Given the description of an element on the screen output the (x, y) to click on. 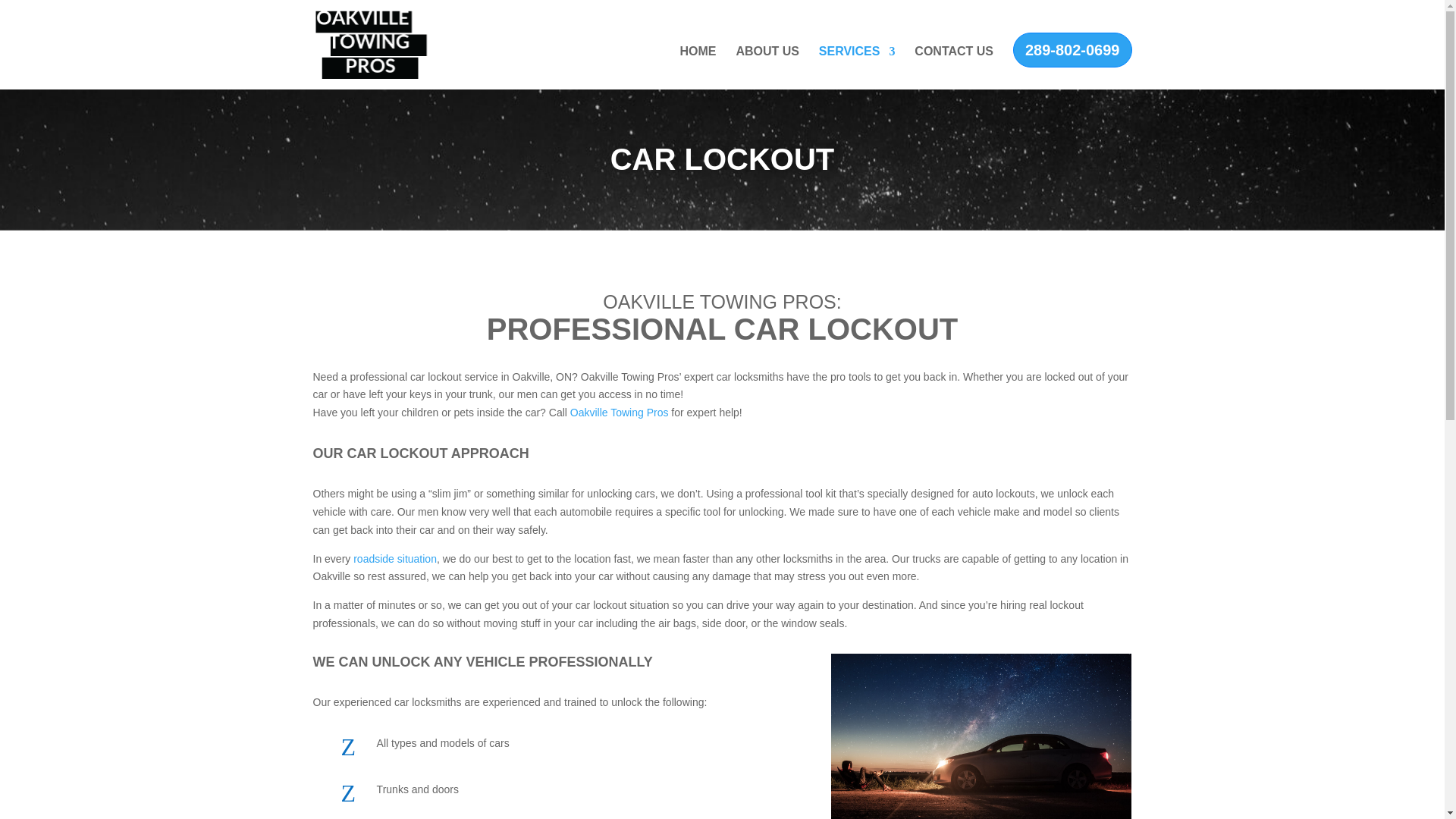
289-802-0699 (1072, 49)
roadside situation (394, 558)
CONTACT US (953, 67)
SERVICES (856, 67)
ABOUT US (767, 67)
Oakville Towing Pros (619, 412)
